Given the description of an element on the screen output the (x, y) to click on. 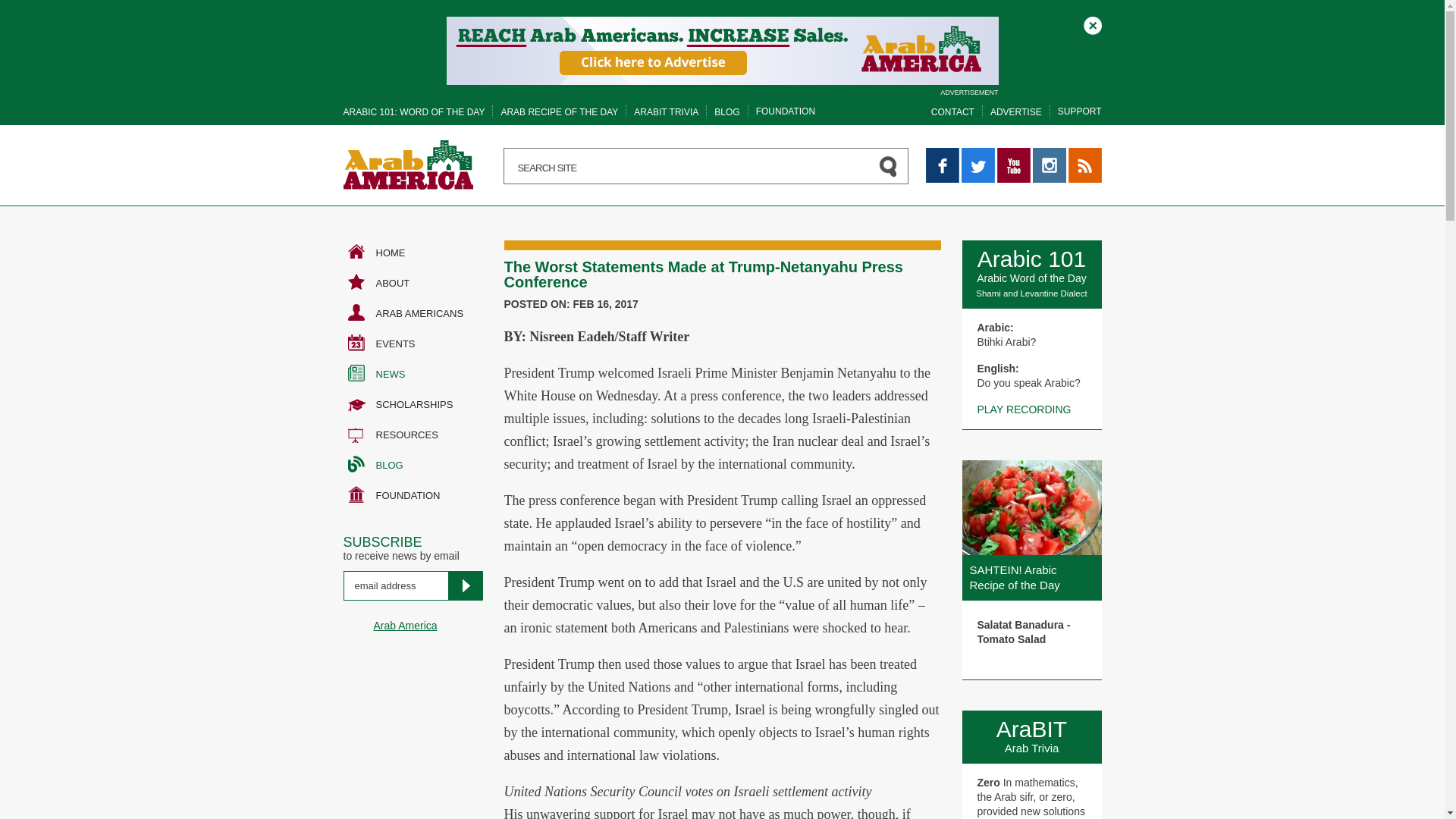
Twitter (977, 165)
ARABIT TRIVIA (665, 112)
Send (463, 585)
BLOG (726, 112)
Facebook (941, 165)
FOUNDATION (785, 111)
SUPPORT (1080, 111)
Search for: (705, 166)
RSS (1083, 165)
HOME (411, 253)
Instagram (1048, 165)
YouTube (1012, 165)
Search (37, 15)
Close (1091, 25)
ADVERTISE (1016, 112)
